Given the description of an element on the screen output the (x, y) to click on. 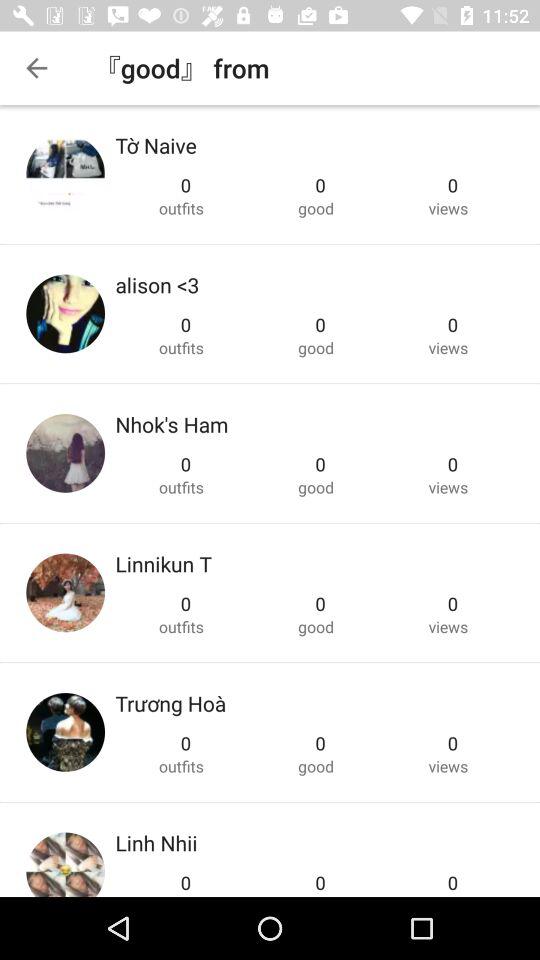
select the item below the outfits item (171, 424)
